Given the description of an element on the screen output the (x, y) to click on. 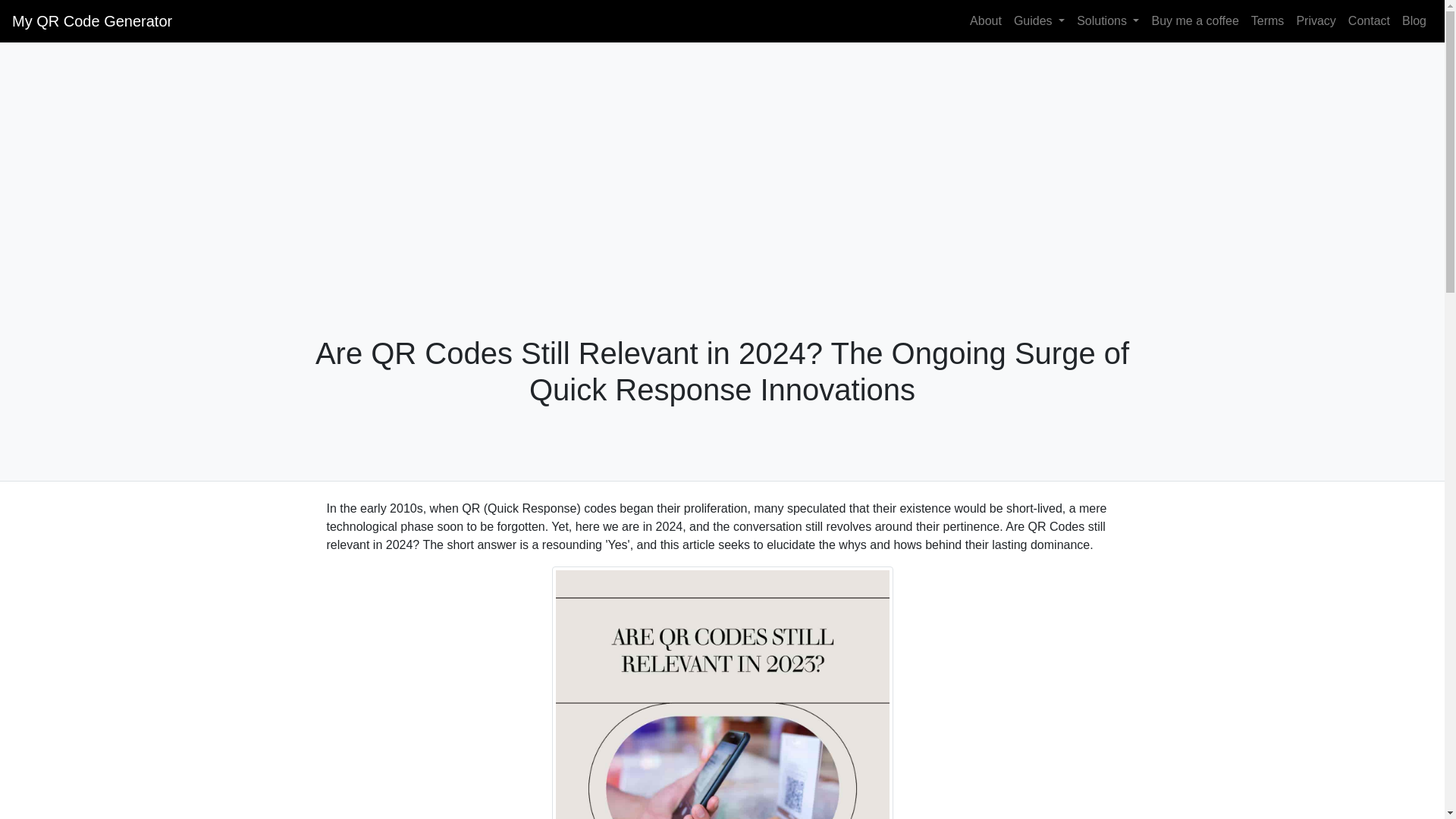
Buy me a coffee (1194, 20)
Contact (1369, 20)
My QR Code Generator (91, 20)
Solutions (1107, 20)
Guides (1038, 20)
Blog (1414, 20)
Terms (1267, 20)
About (985, 20)
Privacy (1315, 20)
